Given the description of an element on the screen output the (x, y) to click on. 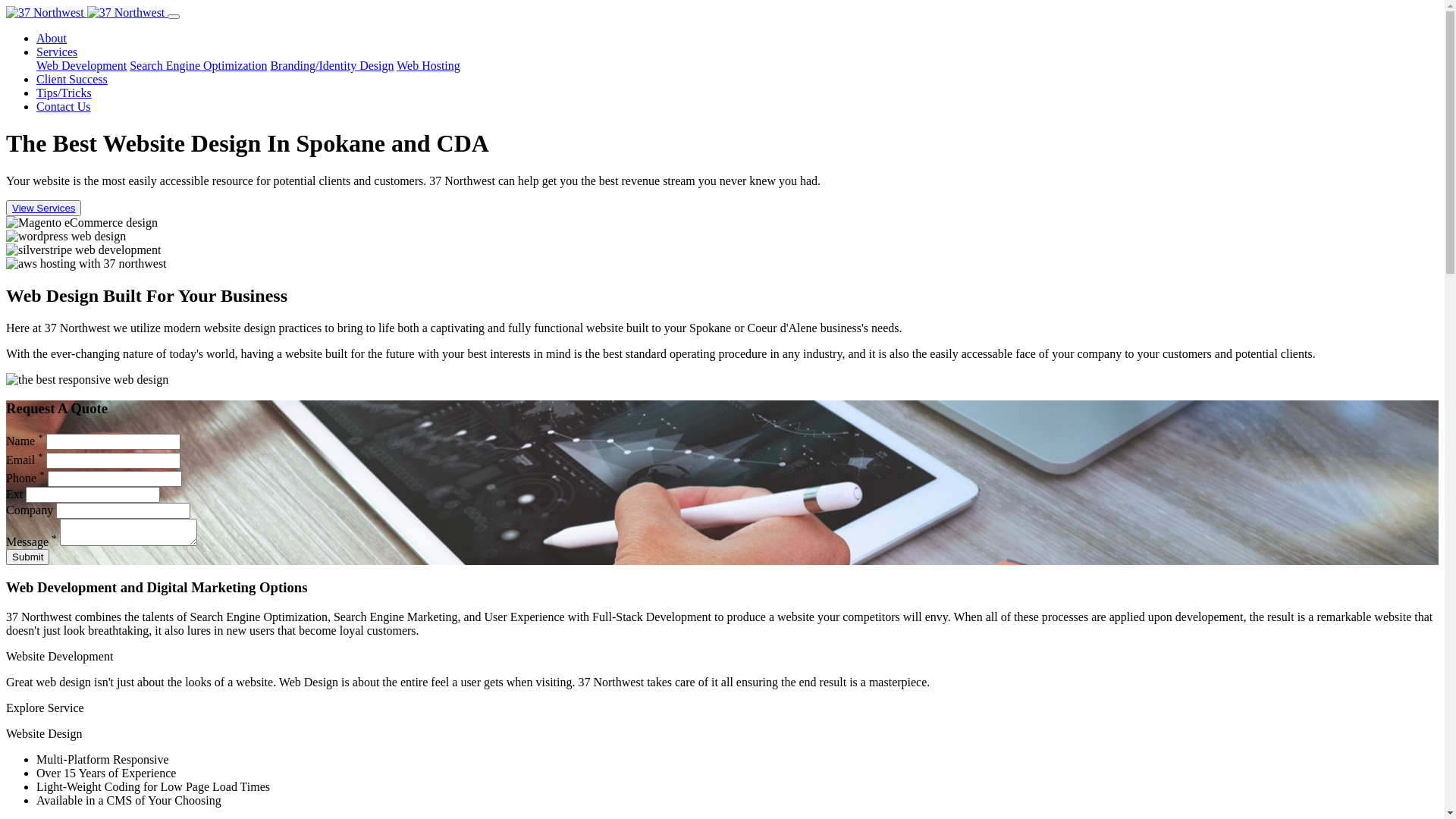
Tips/Tricks Element type: text (63, 92)
Search Engine Optimization Element type: text (197, 65)
Client Success Element type: text (71, 78)
View Services Element type: text (43, 207)
Contact Us Element type: text (63, 106)
View Services Element type: text (43, 208)
Submit Element type: text (27, 556)
Services Element type: text (56, 51)
Branding/Identity Design Element type: text (331, 65)
Web Hosting Element type: text (428, 65)
Web Development Element type: text (81, 65)
About Element type: text (51, 37)
